Given the description of an element on the screen output the (x, y) to click on. 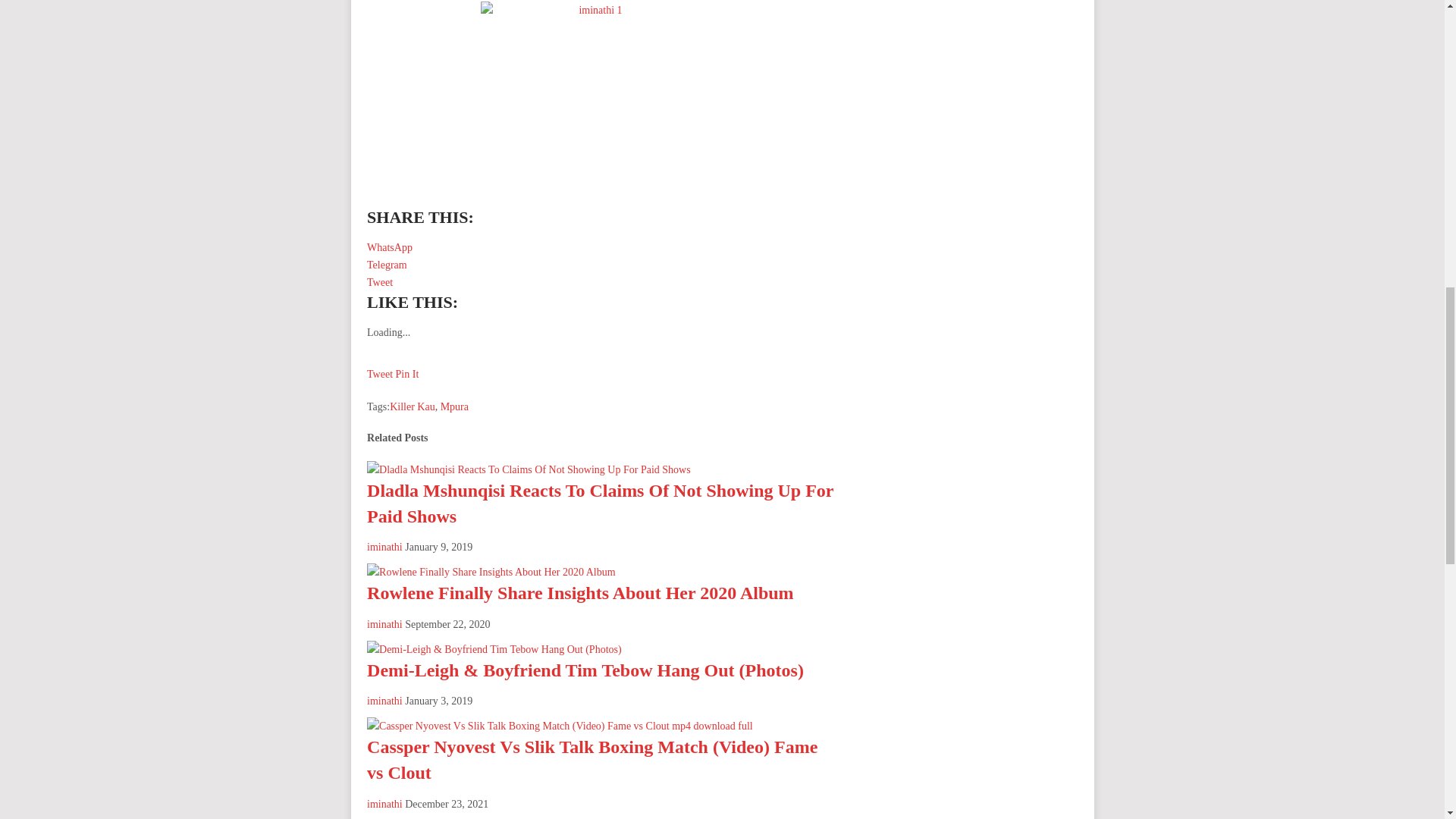
Tweet (379, 282)
Telegram (386, 265)
WhatsApp (389, 247)
